Given the description of an element on the screen output the (x, y) to click on. 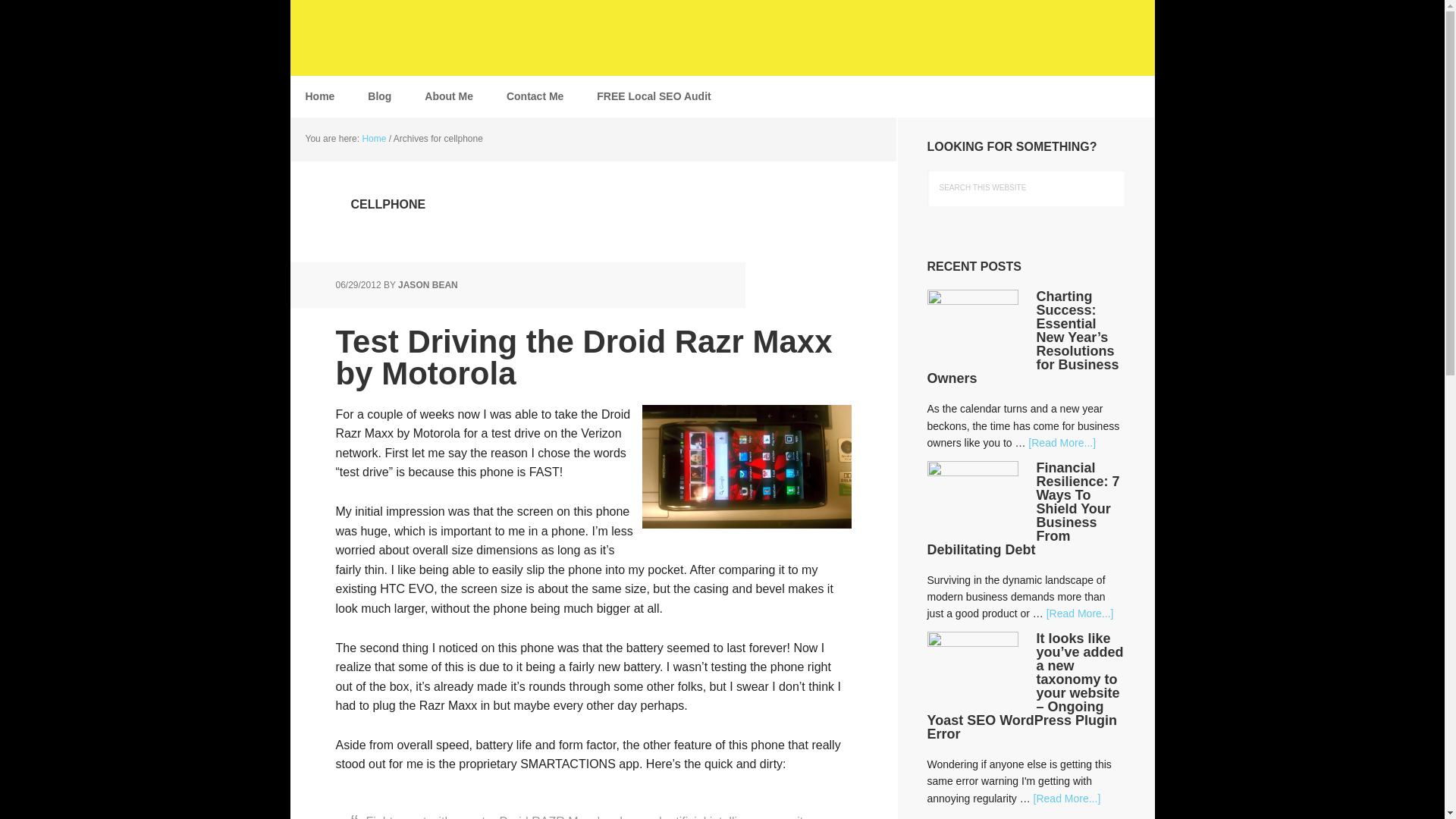
Home (373, 138)
Droid Razr Maxx by Motorola and Verizon (746, 466)
Home (319, 96)
FREE Local SEO Audit (652, 96)
Test Driving the Droid Razr Maxx by Motorola (582, 357)
Bnpositives Blog (387, 38)
Get Your FREE Local Business SEO Audit (652, 96)
Blog (379, 96)
Contact Me (535, 96)
About Me (448, 96)
JASON BEAN (427, 285)
